Given the description of an element on the screen output the (x, y) to click on. 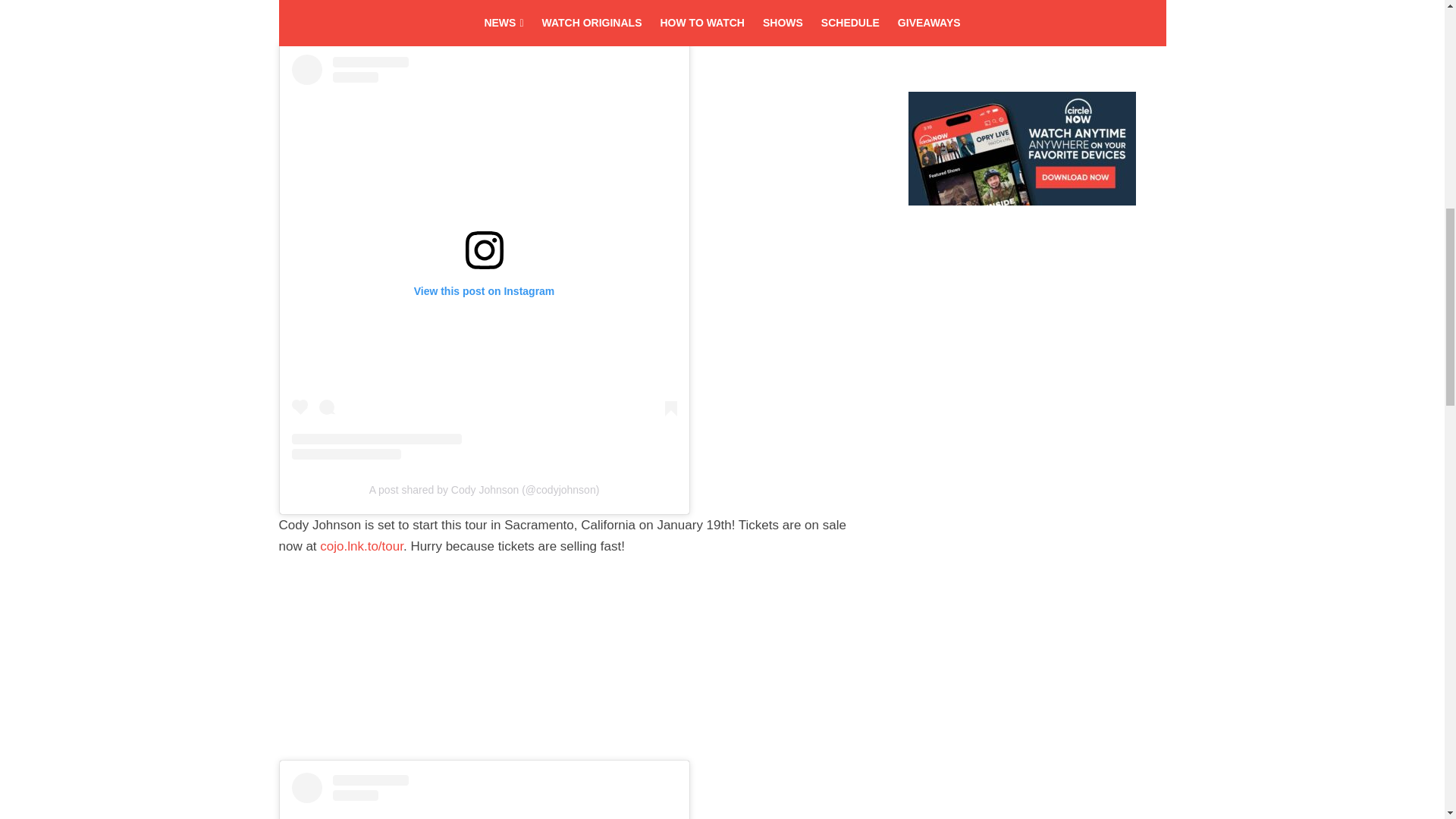
Cody Johnson (387, 2)
